Given the description of an element on the screen output the (x, y) to click on. 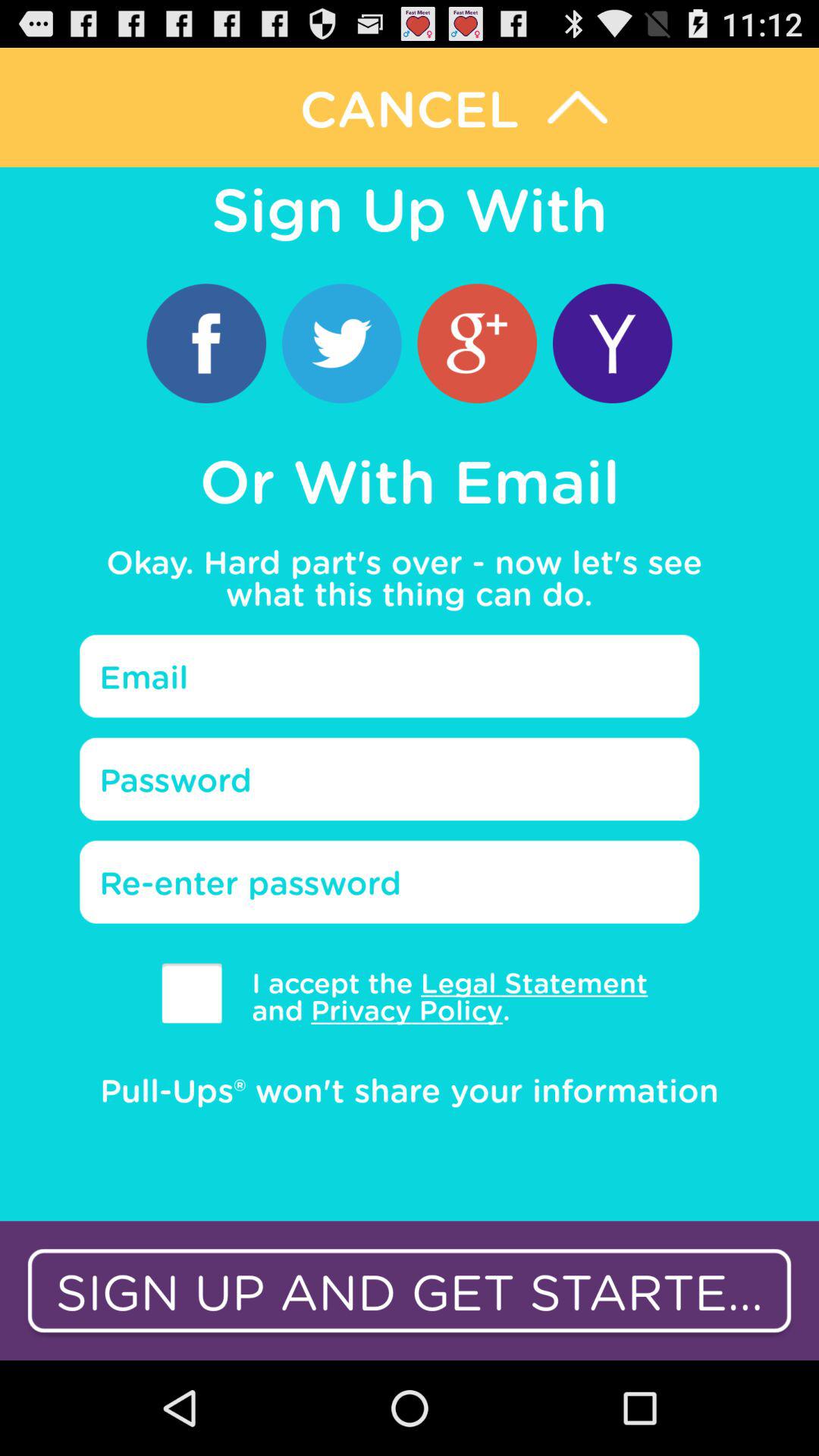
cancel option (409, 107)
